Given the description of an element on the screen output the (x, y) to click on. 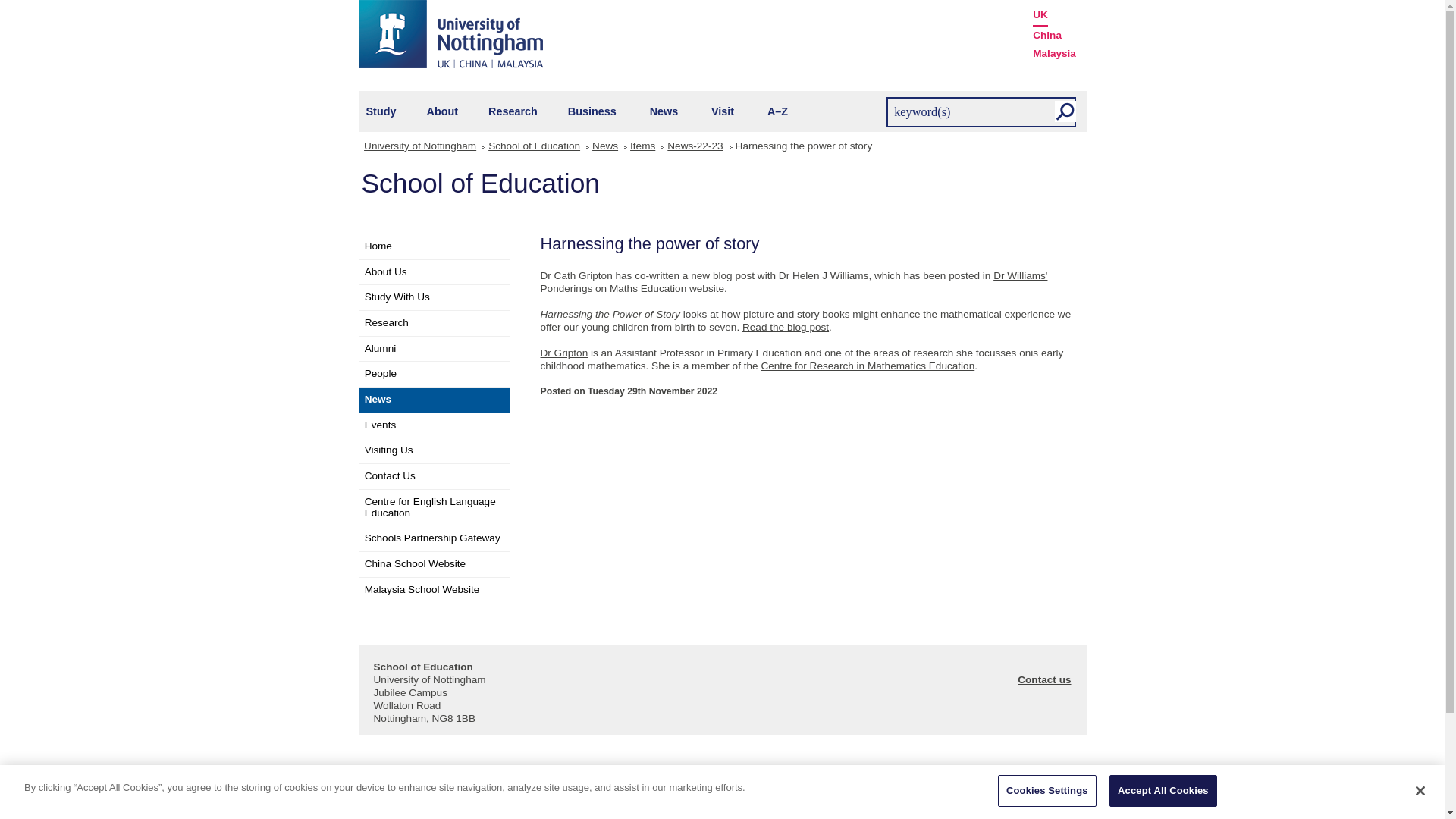
GO (1064, 111)
News-22-23 (697, 145)
Go to News from here (433, 399)
Malaysia (1053, 54)
About the University of Nottingham (442, 110)
Visiting Us (433, 450)
Business (592, 110)
People (433, 373)
News (663, 110)
School of Education (536, 145)
